Given the description of an element on the screen output the (x, y) to click on. 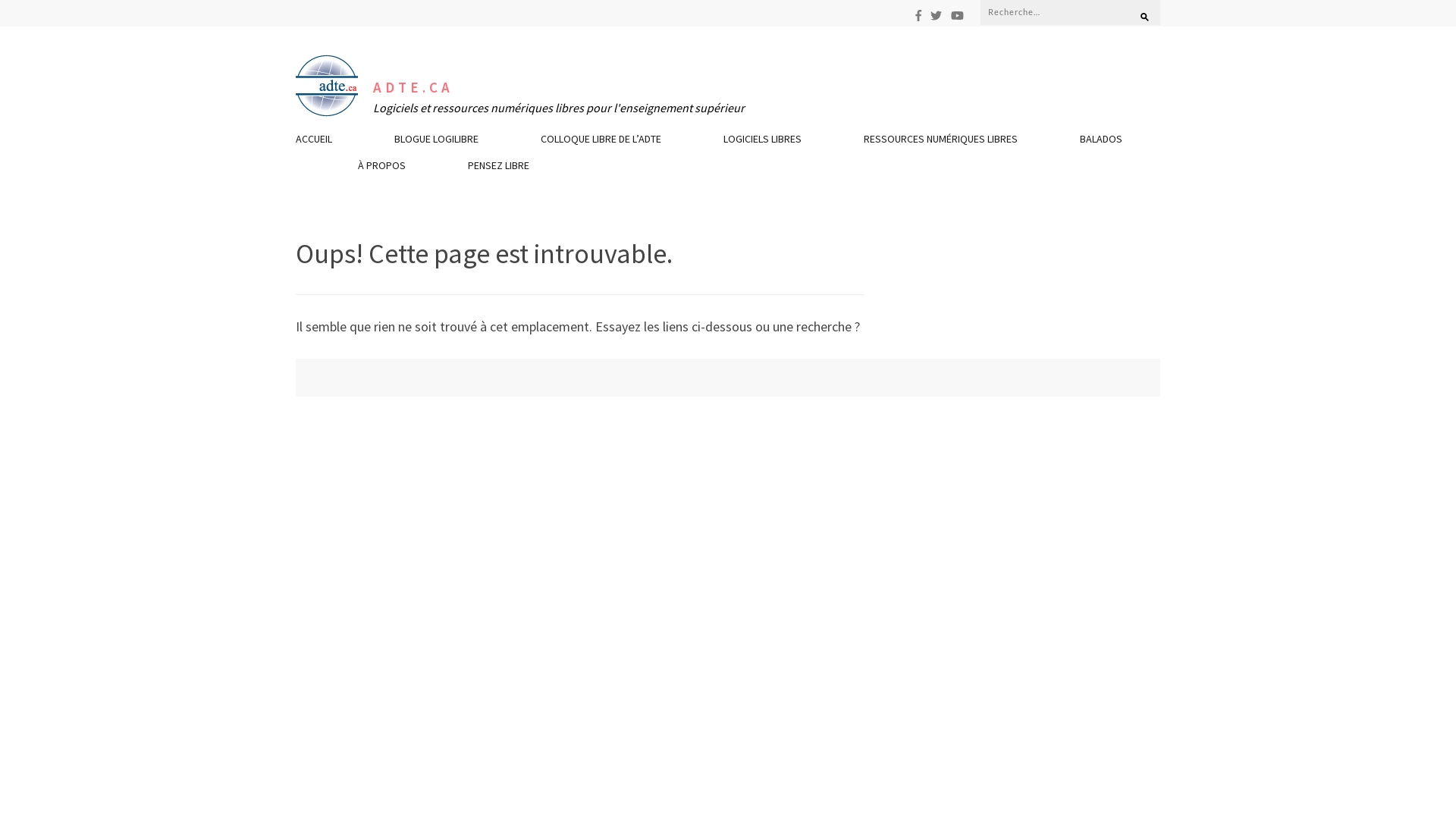
ADTE.CA Element type: text (413, 87)
PENSEZ LIBRE Element type: text (498, 168)
Rechercher Element type: text (1137, 11)
YouTube Element type: hover (956, 15)
LOGICIELS LIBRES Element type: text (762, 142)
BLOGUE LOGILIBRE Element type: text (436, 142)
ACCUEIL Element type: text (313, 142)
BALADOS Element type: text (1100, 142)
Twitter Element type: hover (935, 15)
Facebook Element type: hover (918, 15)
